Given the description of an element on the screen output the (x, y) to click on. 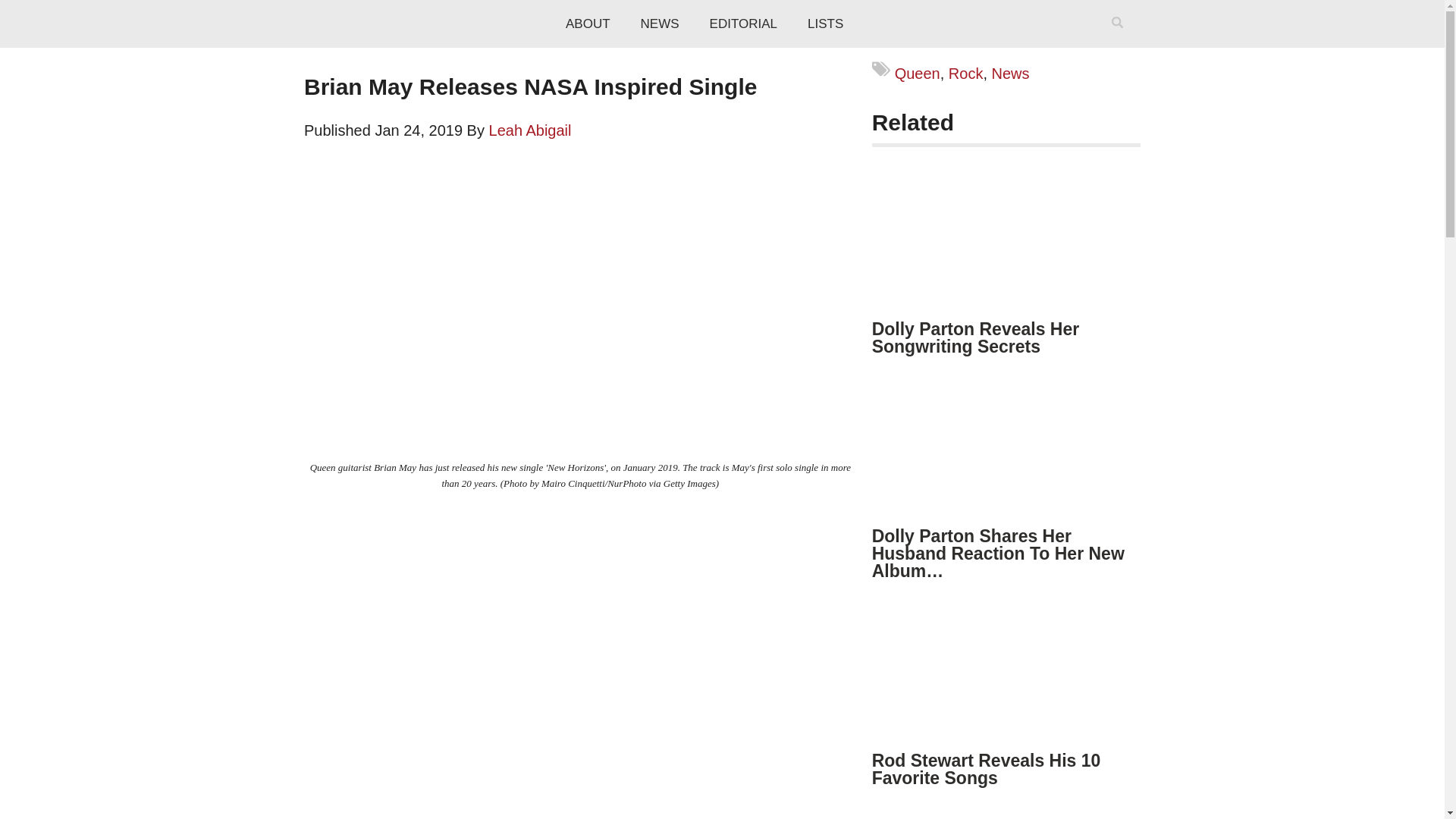
NEWS (660, 23)
EDITORIAL (743, 23)
Dolly Parton Reveals Her Songwriting Secrets (976, 337)
ABOUT (588, 23)
Queen (917, 73)
LISTS (825, 23)
Search (1120, 42)
Rock (966, 73)
Leah Abigail (530, 130)
Search (1120, 42)
Search (1120, 42)
News (1010, 73)
Rod Stewart Reveals His 10 Favorite Songs (986, 769)
